Given the description of an element on the screen output the (x, y) to click on. 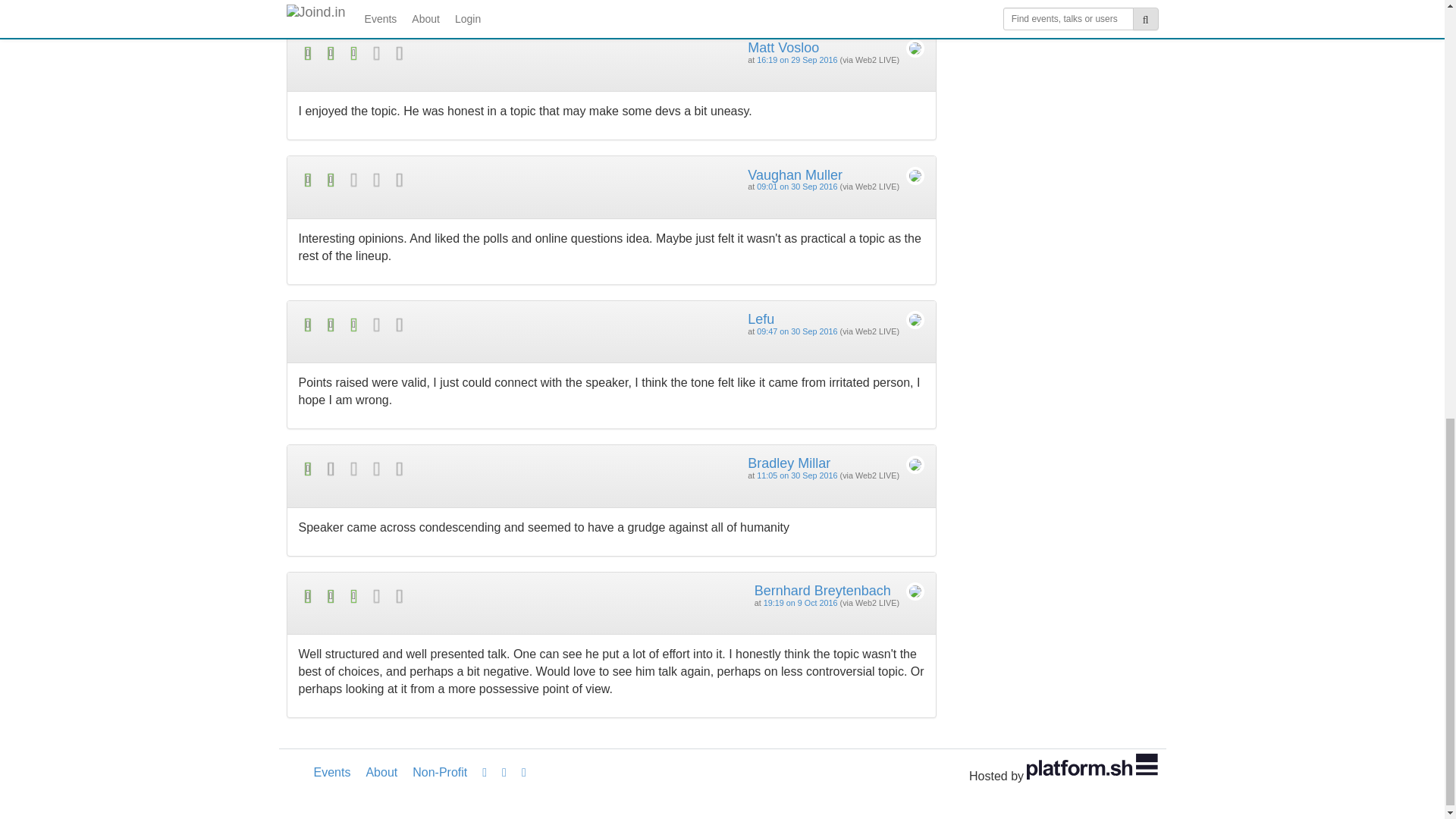
Rated 3 (454, 324)
Rated 3 (454, 596)
Bradley Millar (788, 462)
09:01 on 30 Sep 2016 (797, 185)
Rated 2 (454, 179)
Lefu (761, 319)
19:19 on 9 Oct 2016 (800, 602)
Vaughan Muller (795, 174)
09:47 on 30 Sep 2016 (797, 330)
Events (331, 772)
Rated 3 (454, 53)
16:19 on 29 Sep 2016 (797, 59)
About (381, 772)
Non-Profit (439, 772)
Bernhard Breytenbach (822, 590)
